Given the description of an element on the screen output the (x, y) to click on. 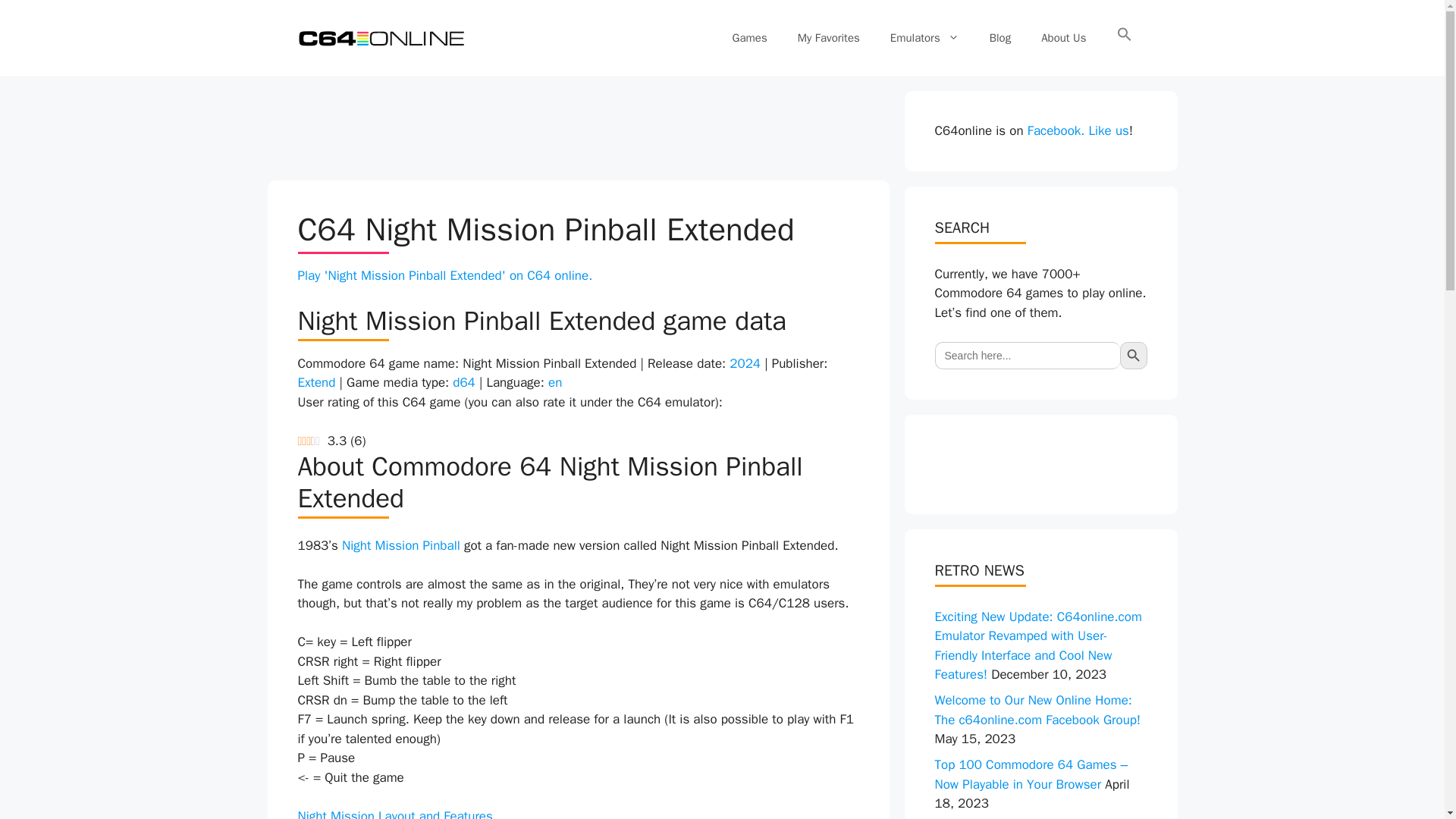
Night Mission Layout and Features (394, 813)
My Favorites (829, 37)
Play 'Night Mission Pinball Extended' on C64 online. (444, 275)
Night Mission Pinball (401, 545)
2024 (744, 363)
About Us (1063, 37)
Games (750, 37)
Emulators (924, 37)
d64 (464, 382)
Extend (315, 382)
Blog (1000, 37)
